Given the description of an element on the screen output the (x, y) to click on. 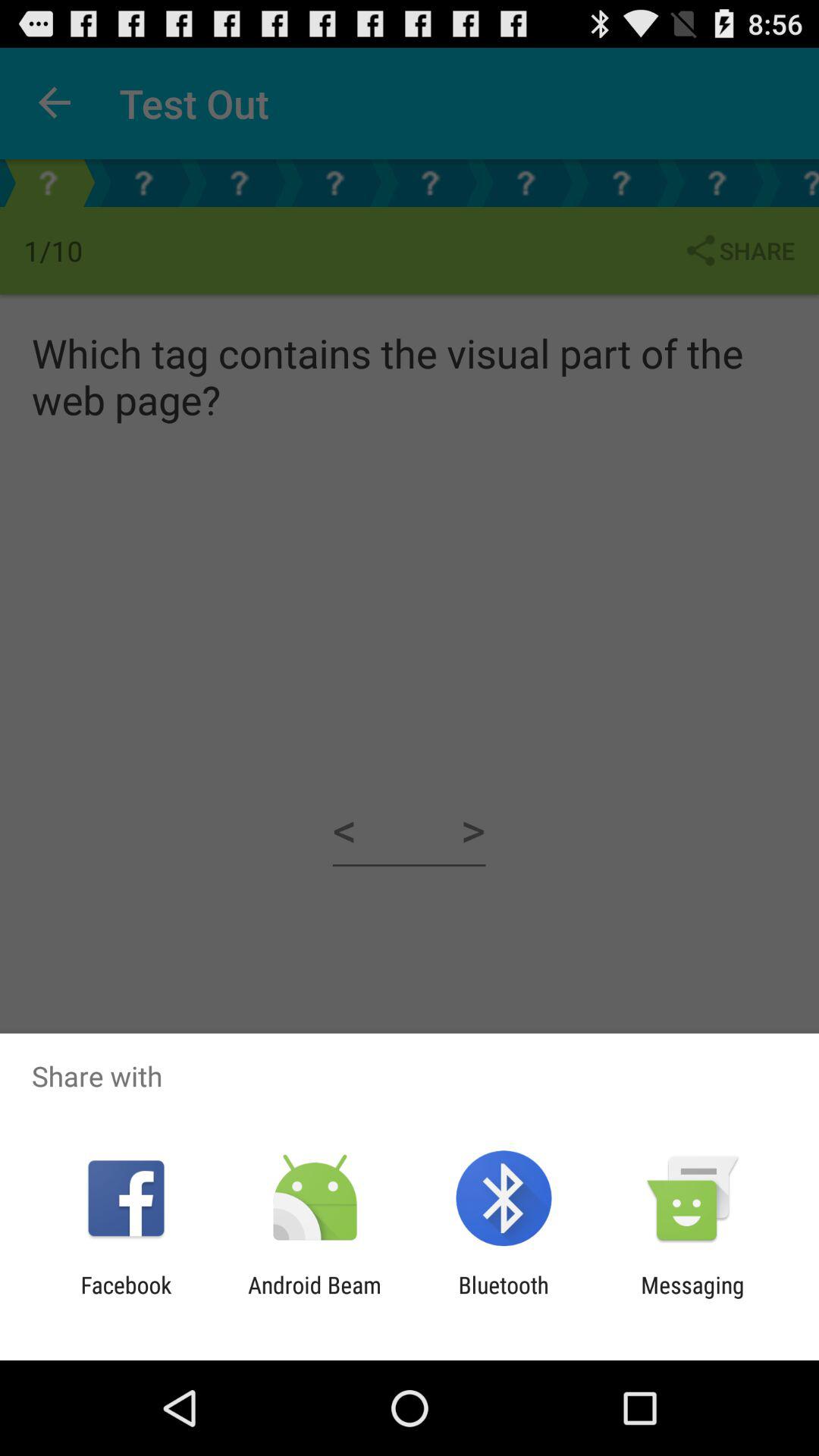
turn off the app next to the android beam app (125, 1298)
